Given the description of an element on the screen output the (x, y) to click on. 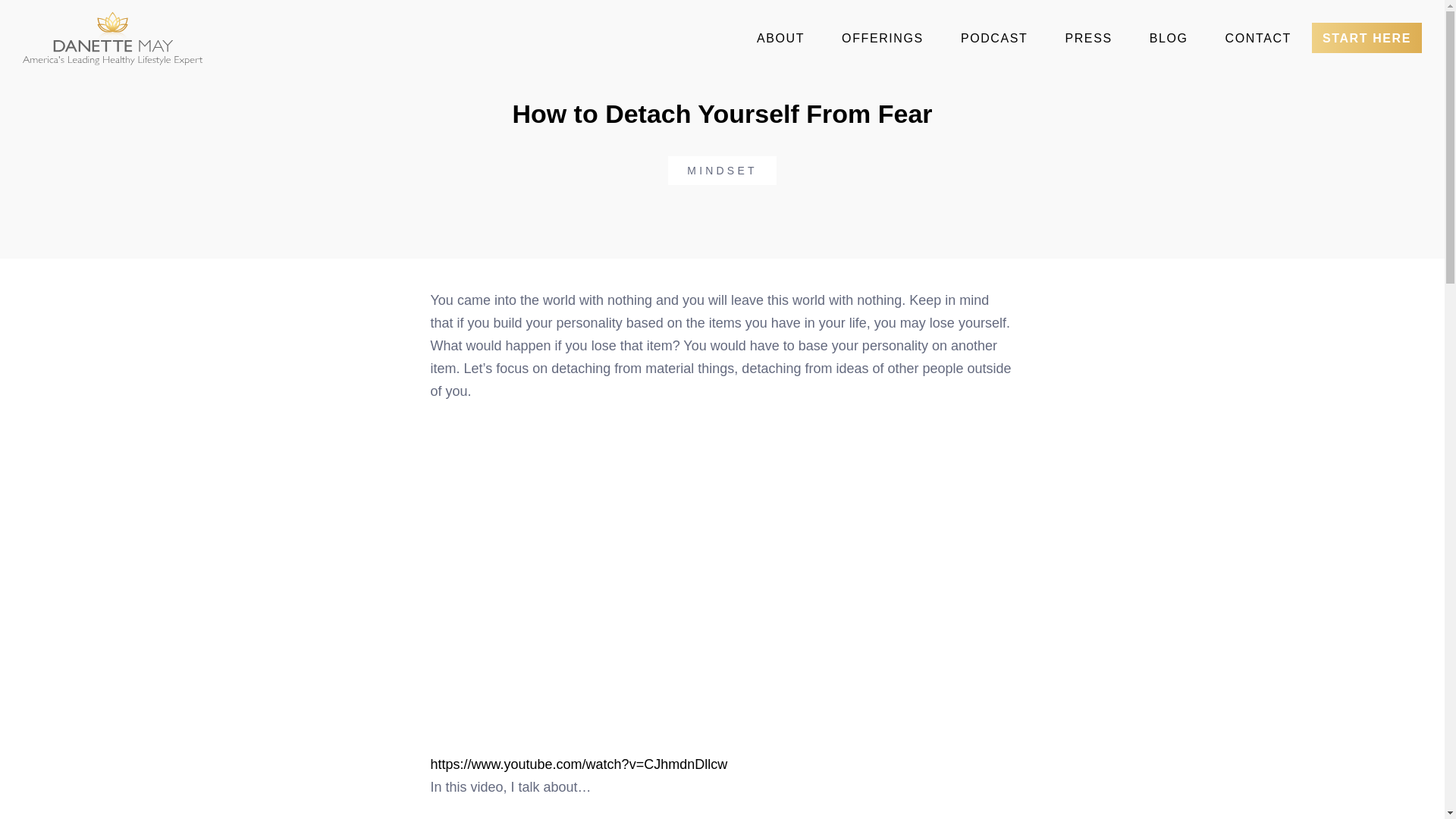
BLOG (1168, 38)
PODCAST (994, 38)
CONTACT (1257, 38)
PRESS (1088, 38)
OFFERINGS (882, 38)
START HERE (1366, 37)
MINDSET (722, 170)
ABOUT (780, 38)
